Given the description of an element on the screen output the (x, y) to click on. 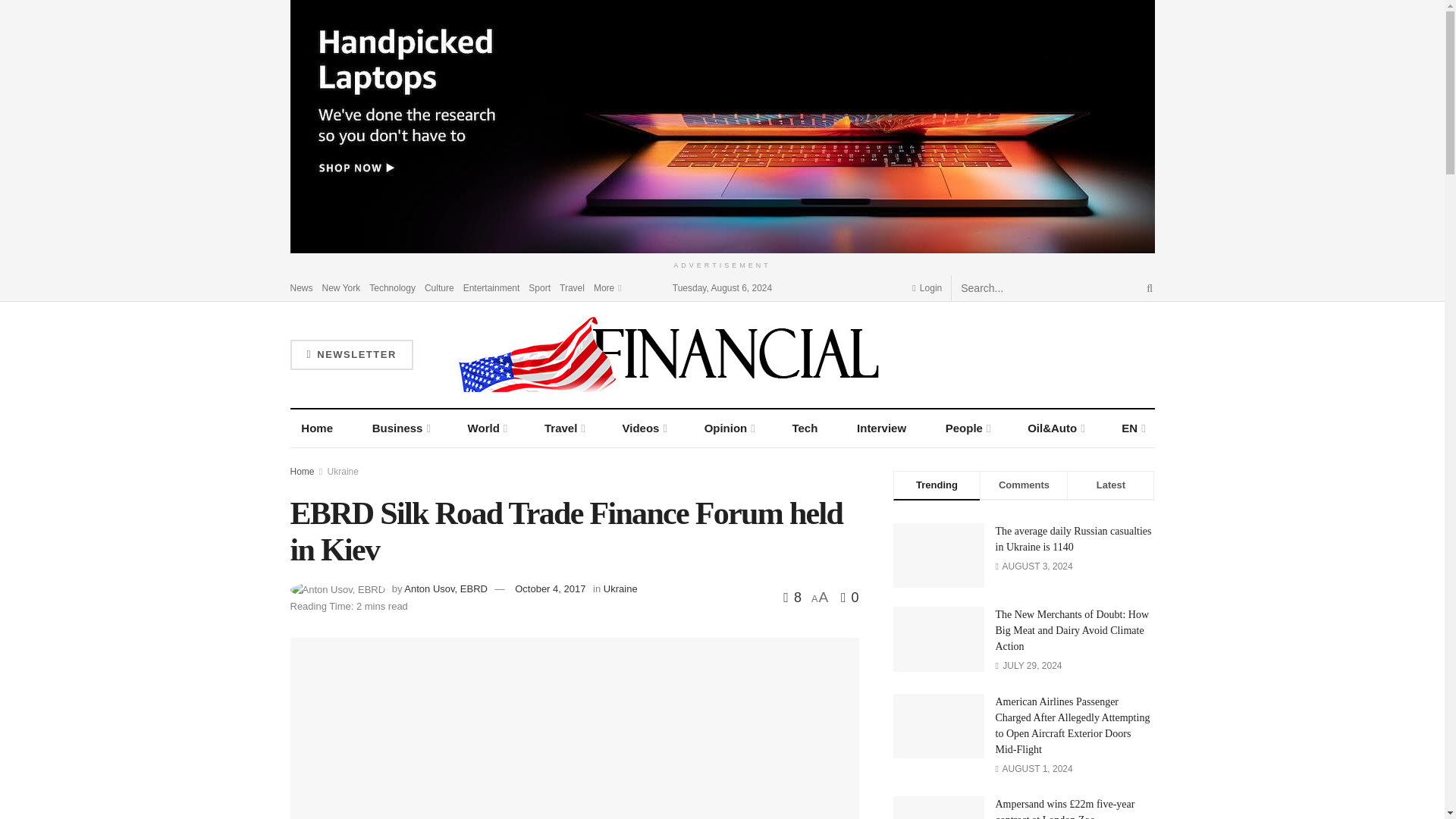
World (486, 428)
Culture (439, 287)
Login (927, 287)
Entertainment (491, 287)
More (607, 287)
Travel (572, 287)
Business (400, 428)
Home (316, 428)
New York (341, 287)
Technology (391, 287)
